Given the description of an element on the screen output the (x, y) to click on. 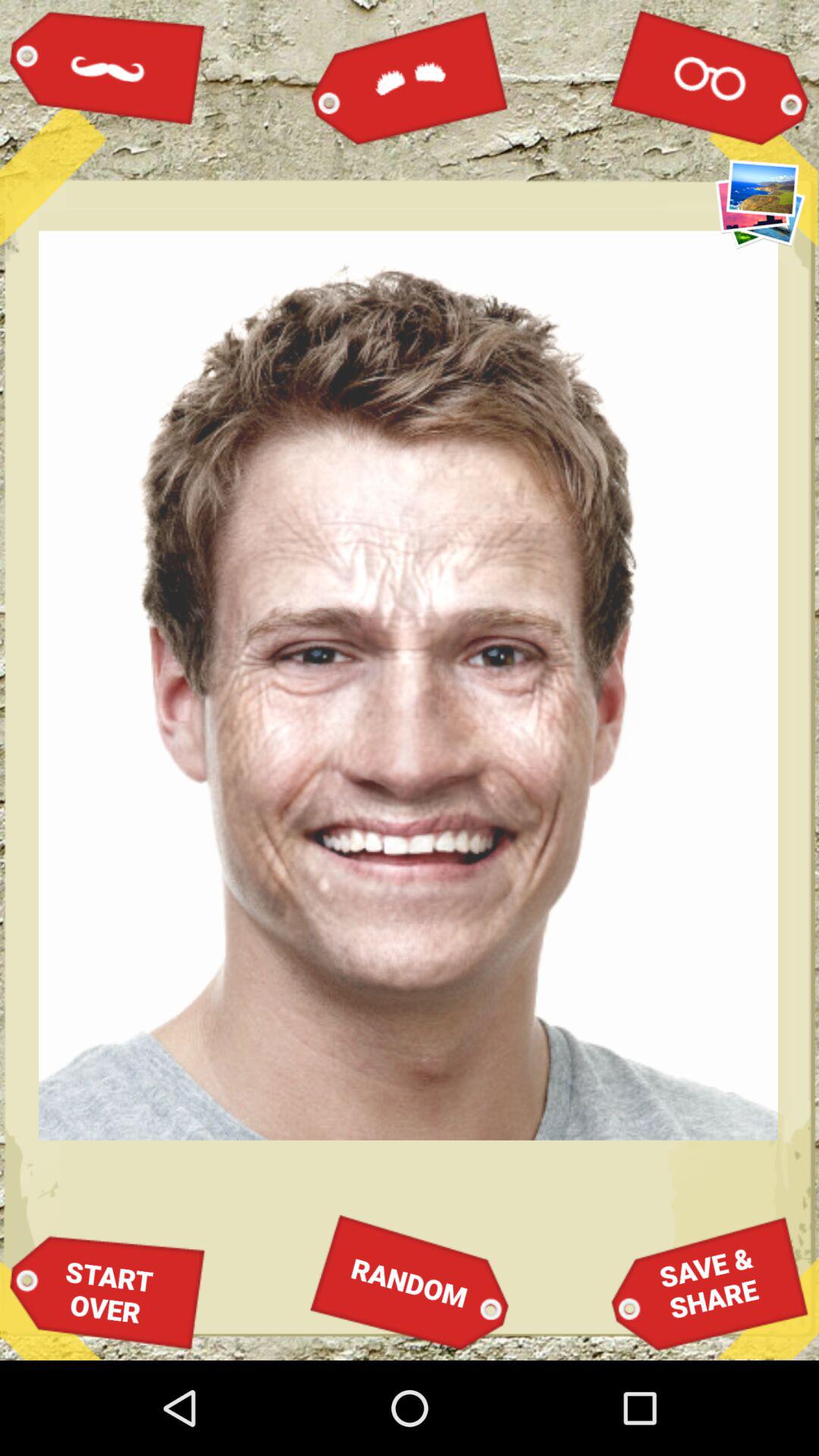
swipe to random item (409, 1282)
